Given the description of an element on the screen output the (x, y) to click on. 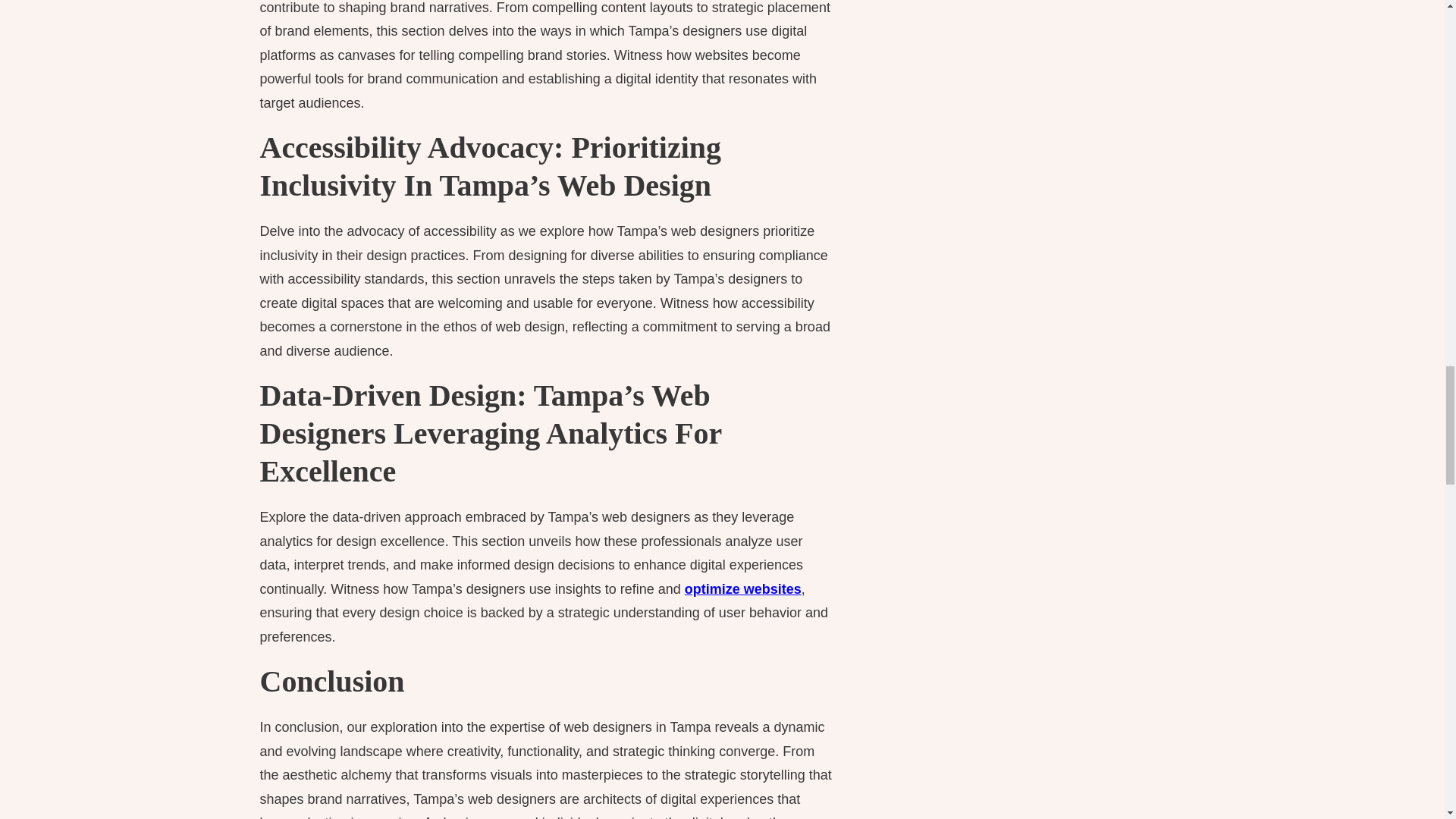
optimize websites (743, 589)
